Given the description of an element on the screen output the (x, y) to click on. 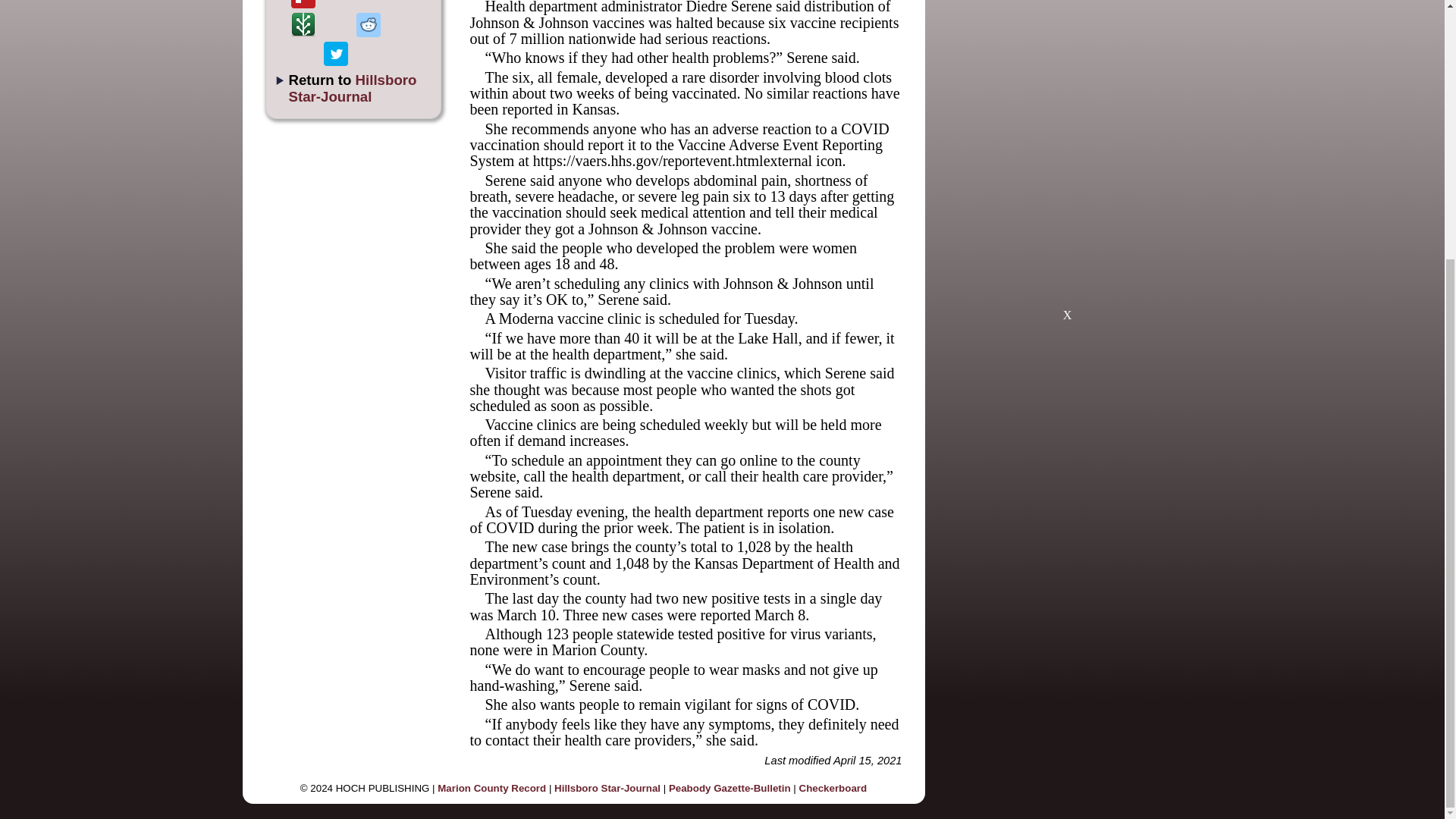
Advertisement (1123, 53)
Marion County Record (492, 787)
Hillsboro Star-Journal (352, 88)
Checkerboard (833, 787)
Peabody Gazette-Bulletin (729, 787)
Advertisement (1067, 220)
Hillsboro Star-Journal (607, 787)
